Given the description of an element on the screen output the (x, y) to click on. 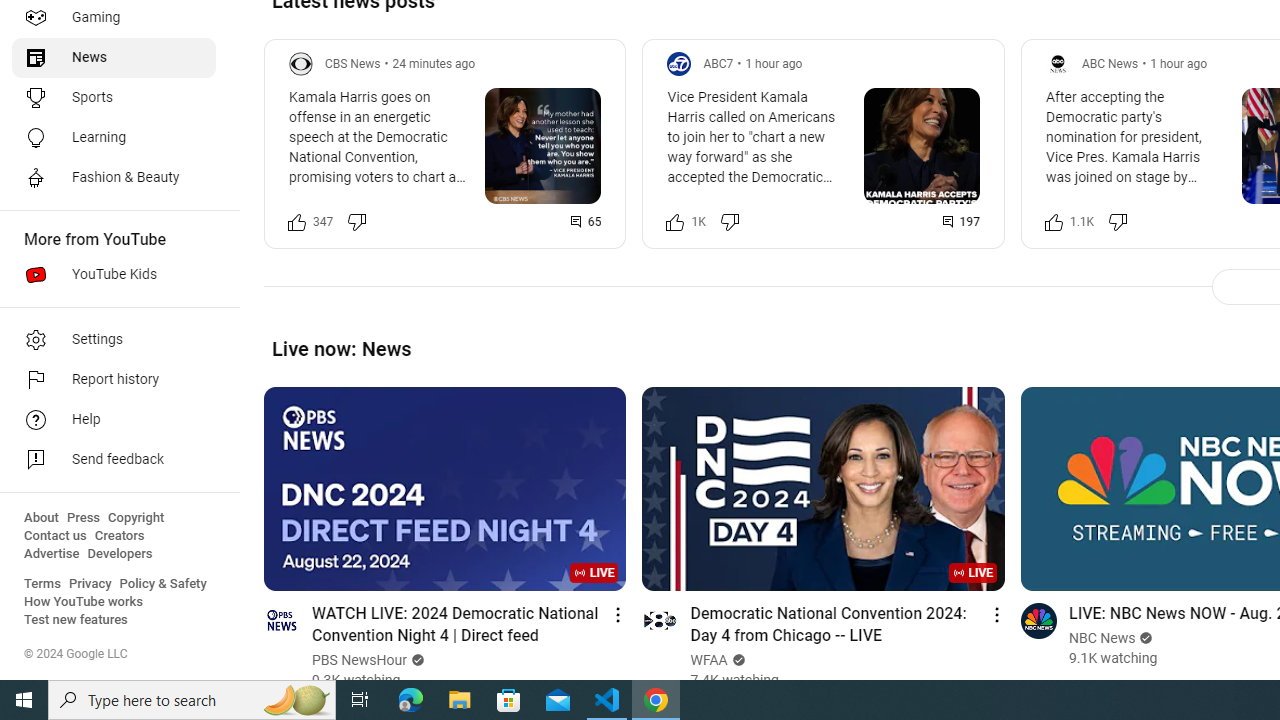
Send feedback (113, 459)
ABC7 (717, 63)
Test new features (76, 620)
Sports (113, 97)
Verified (1144, 637)
Like this post along with 347 other people (297, 221)
Advertise (51, 554)
1 hour ago (1178, 63)
CBS News (353, 63)
Developers (120, 554)
ABC News (1110, 63)
WFAA (709, 660)
Contact us (55, 536)
